Given the description of an element on the screen output the (x, y) to click on. 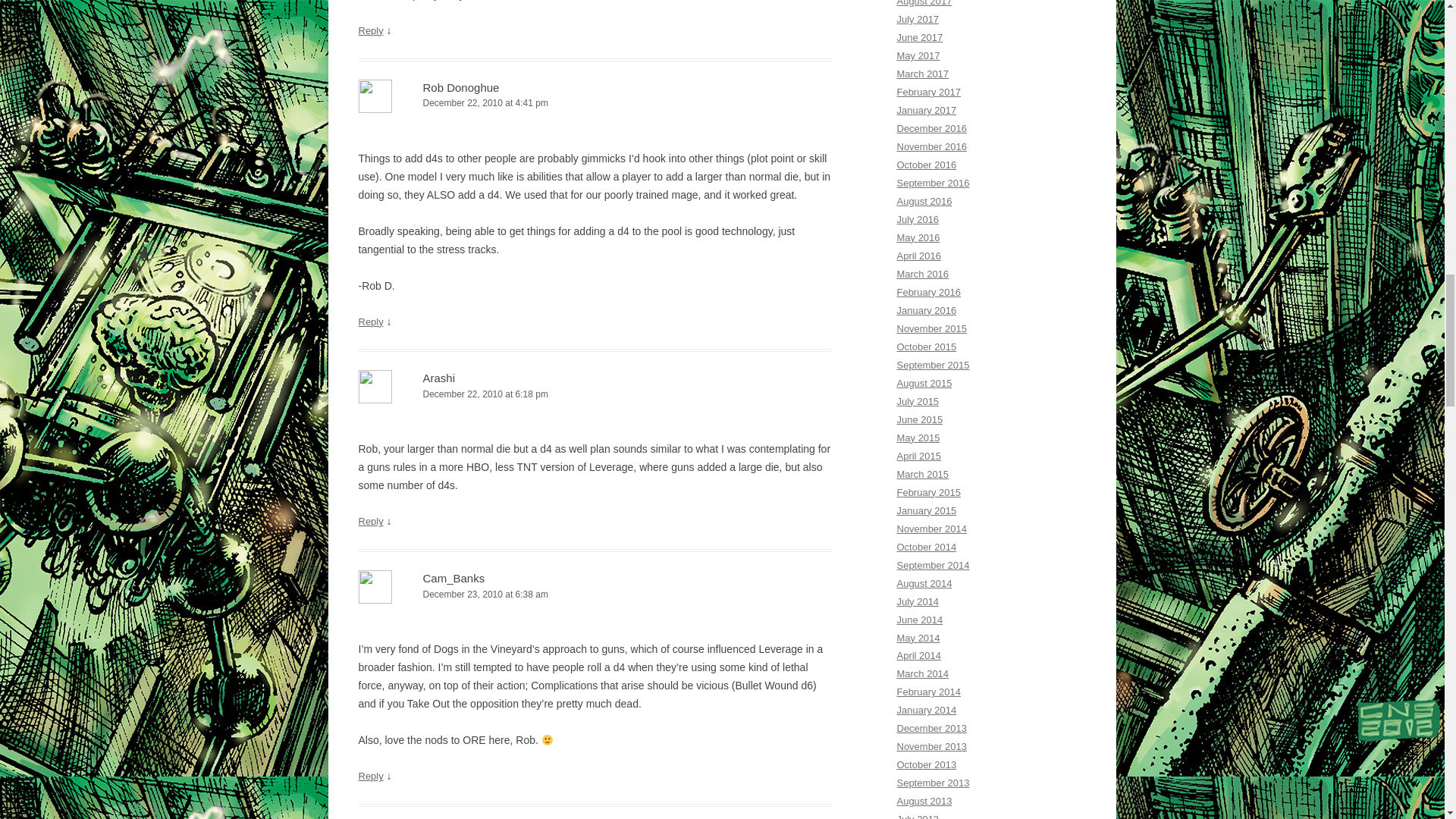
Arashi (439, 377)
December 23, 2010 at 6:38 am (594, 594)
Reply (370, 320)
Reply (370, 776)
December 22, 2010 at 6:18 pm (594, 394)
Reply (370, 521)
Rob Donoghue (461, 87)
December 22, 2010 at 4:41 pm (594, 103)
Reply (370, 30)
